Given the description of an element on the screen output the (x, y) to click on. 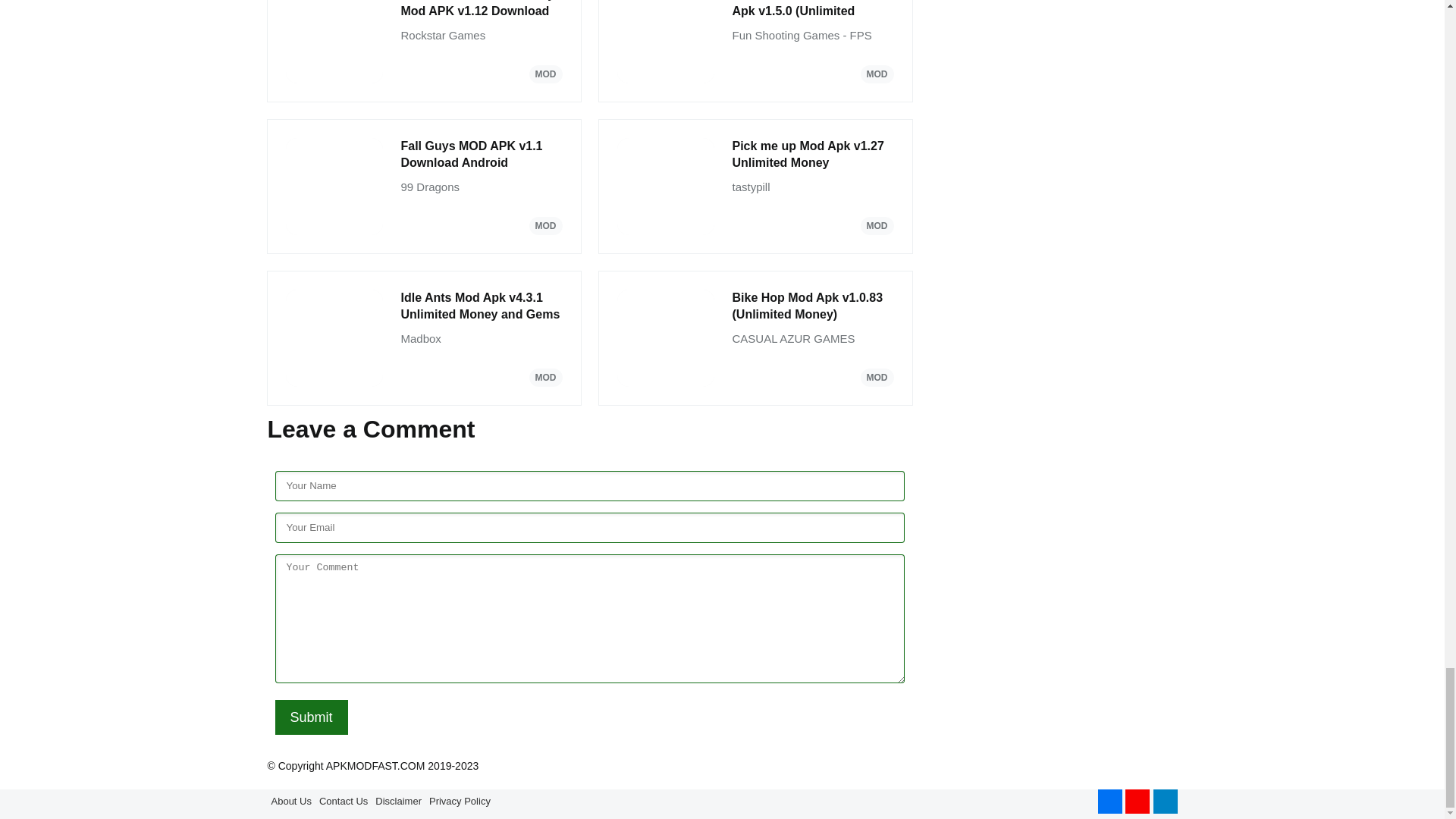
Pick Me Up Mod Apk V1.27 Unlimited Money (812, 154)
Official Facebook Page of APKSAY.COM (1109, 801)
Fall Guys MOD APK V1.1 Download Android (481, 154)
Idle Ants Mod Apk V4.3.1 Unlimited Money And Gems (481, 306)
